Given the description of an element on the screen output the (x, y) to click on. 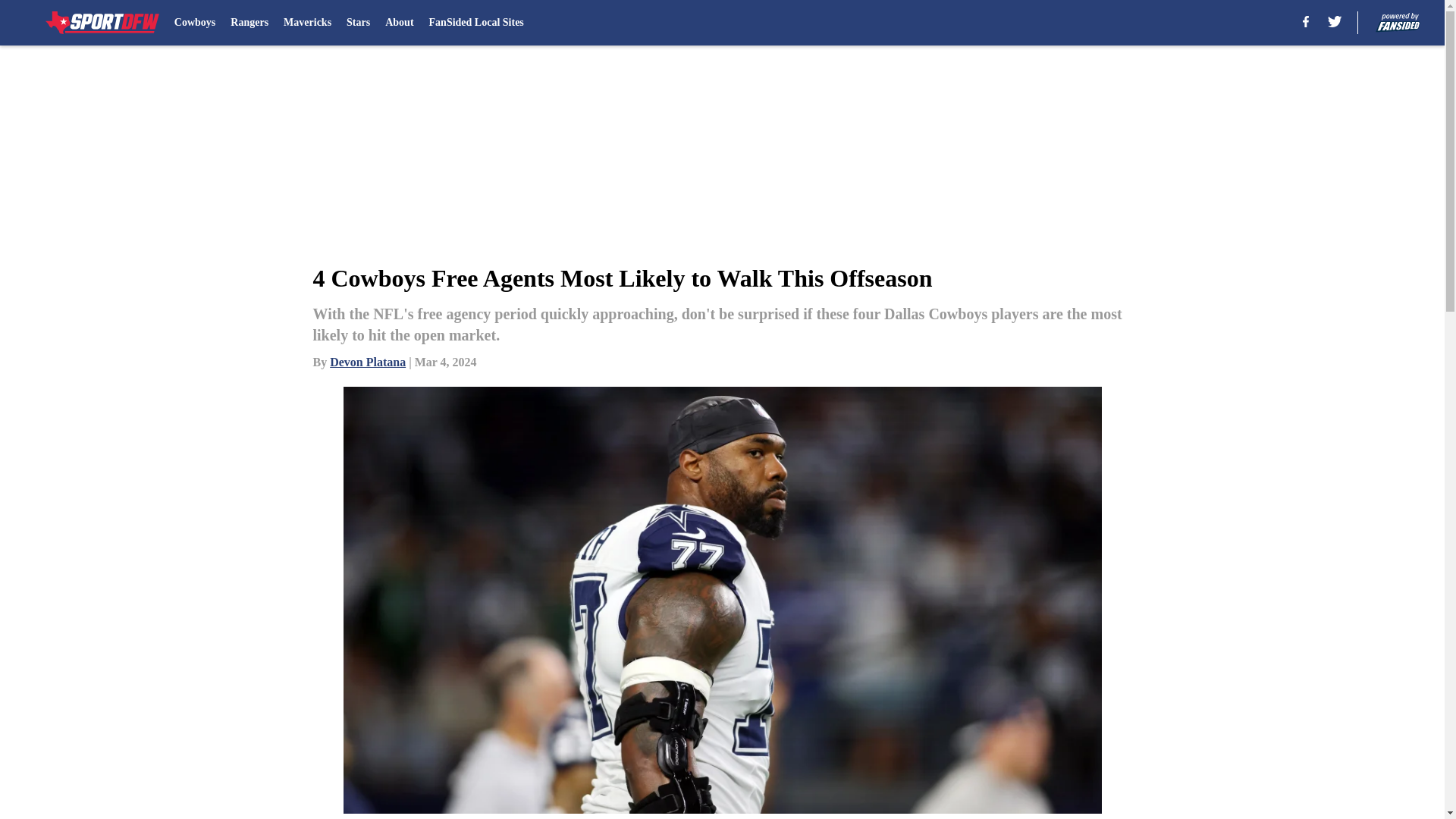
FanSided Local Sites (476, 22)
Rangers (248, 22)
About (399, 22)
Stars (357, 22)
Mavericks (307, 22)
Cowboys (194, 22)
Devon Platana (368, 361)
